Given the description of an element on the screen output the (x, y) to click on. 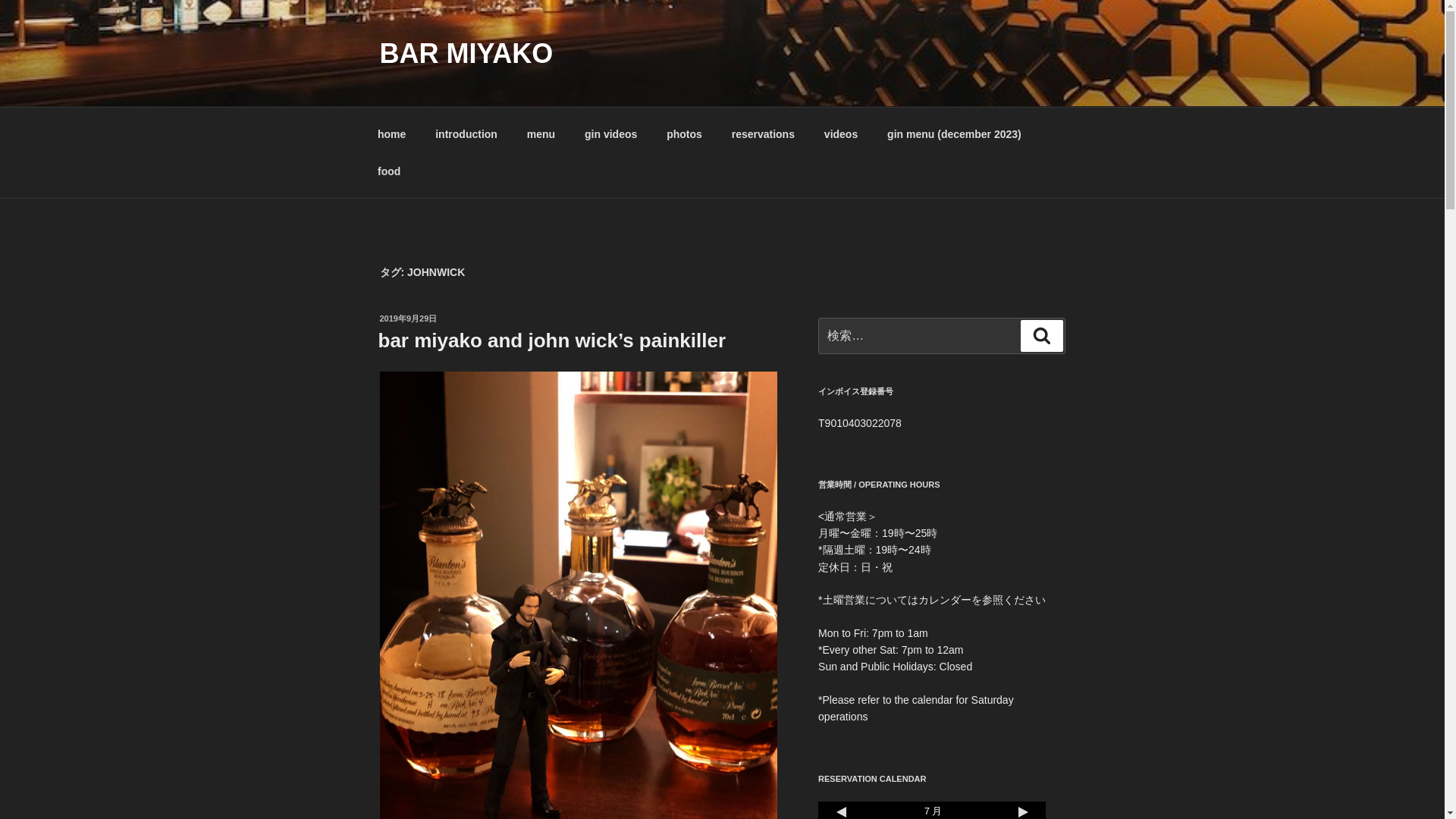
home (391, 133)
introduction (466, 133)
BAR MIYAKO (465, 52)
food (388, 171)
menu (540, 133)
reservations (762, 133)
videos (840, 133)
photos (684, 133)
gin videos (611, 133)
